Given the description of an element on the screen output the (x, y) to click on. 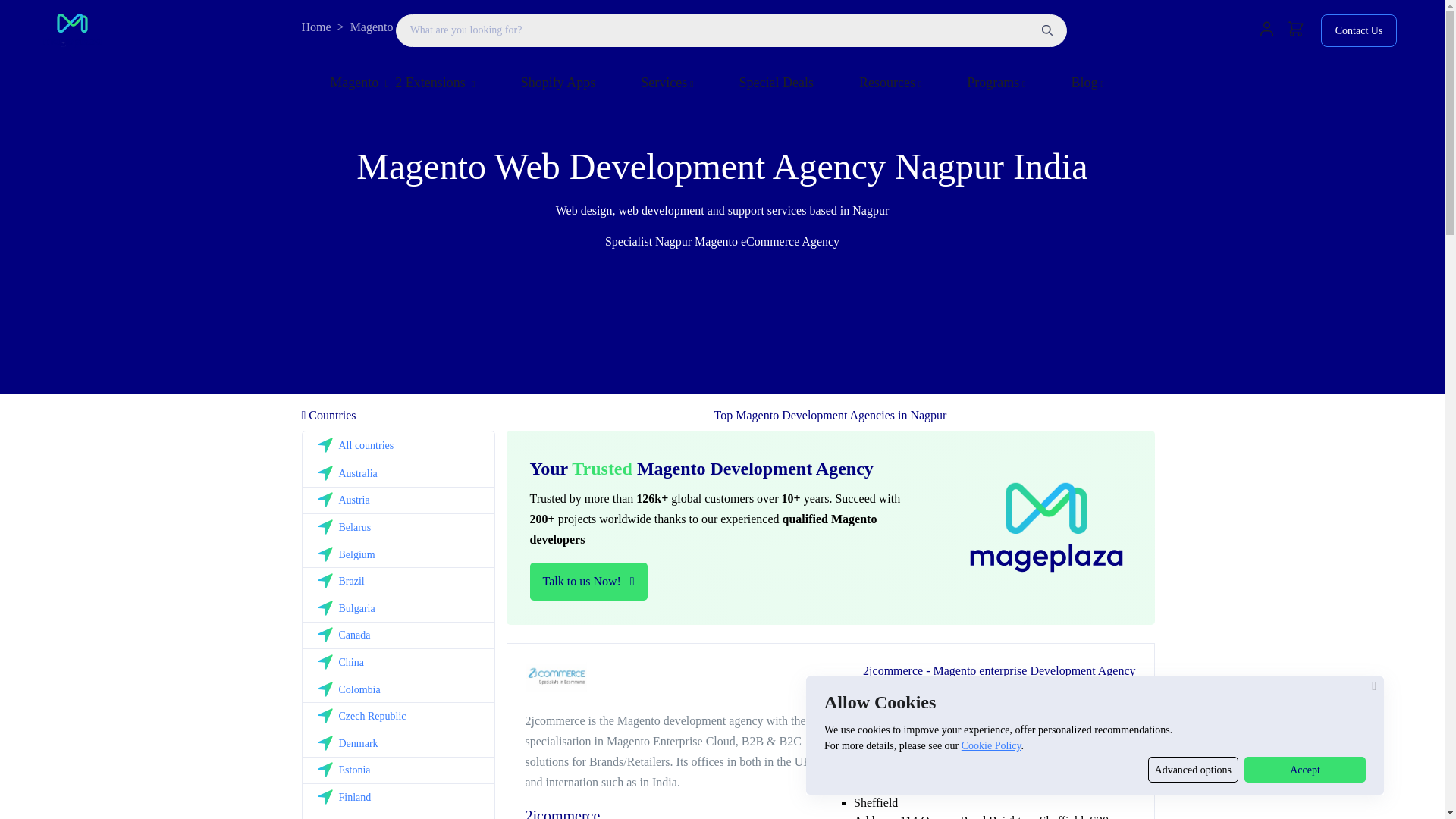
Accept (1304, 769)
Resources (889, 82)
Submit the search query. (1046, 29)
Programs (995, 82)
Cookie Policy (991, 745)
Advanced options (1193, 769)
